Given the description of an element on the screen output the (x, y) to click on. 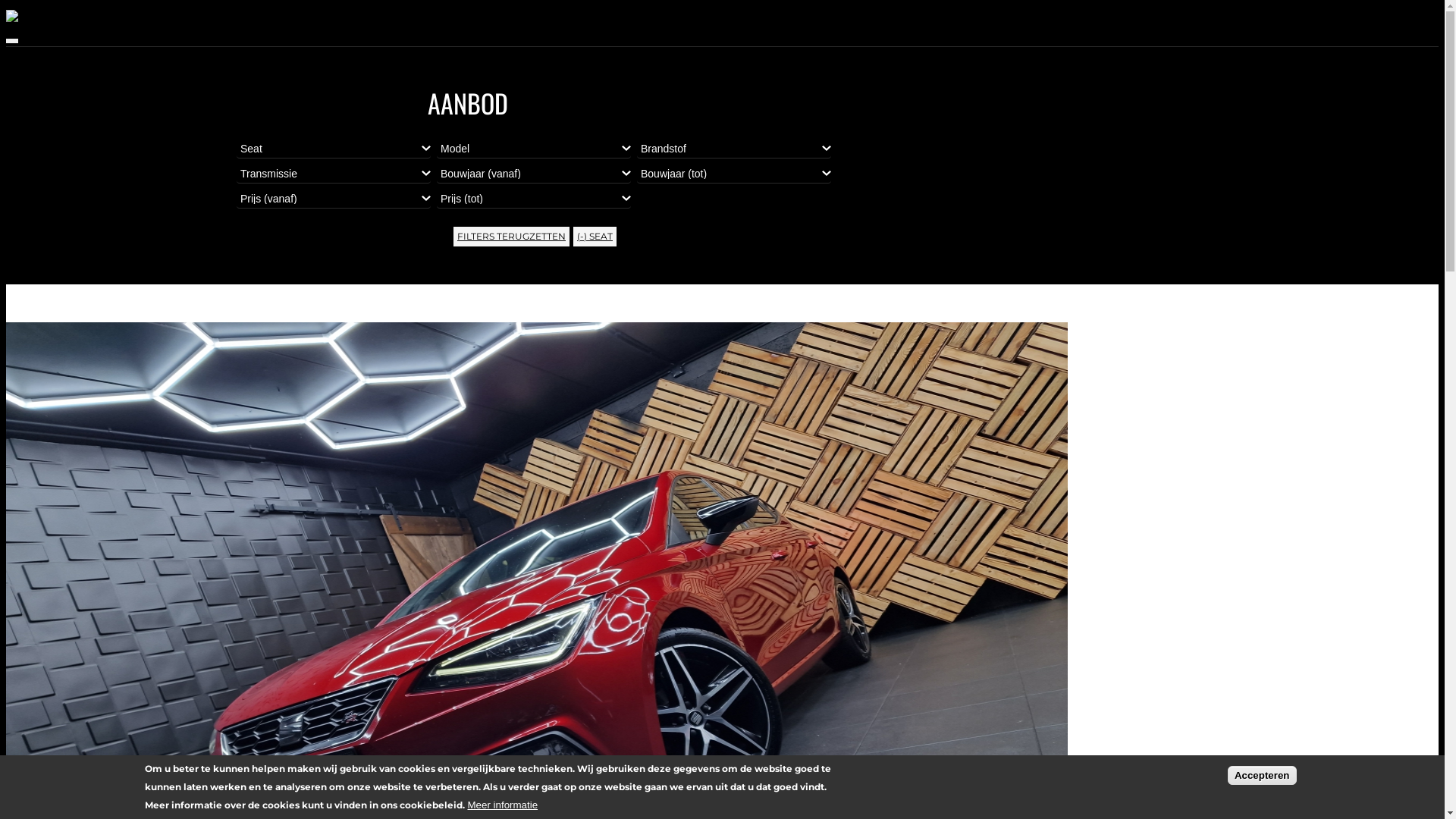
FILTERS TERUGZETTEN Element type: text (511, 235)
CONTACT Element type: text (1008, 85)
(-) SEAT Element type: text (594, 235)
AANBOD Element type: text (1006, 66)
Overslaan en naar de inhoud gaan Element type: text (6, 6)
Home Element type: hover (29, 18)
Navigatie wisselen Element type: text (12, 40)
Meer informatie Element type: text (502, 804)
Accepteren Element type: text (1261, 774)
